Given the description of an element on the screen output the (x, y) to click on. 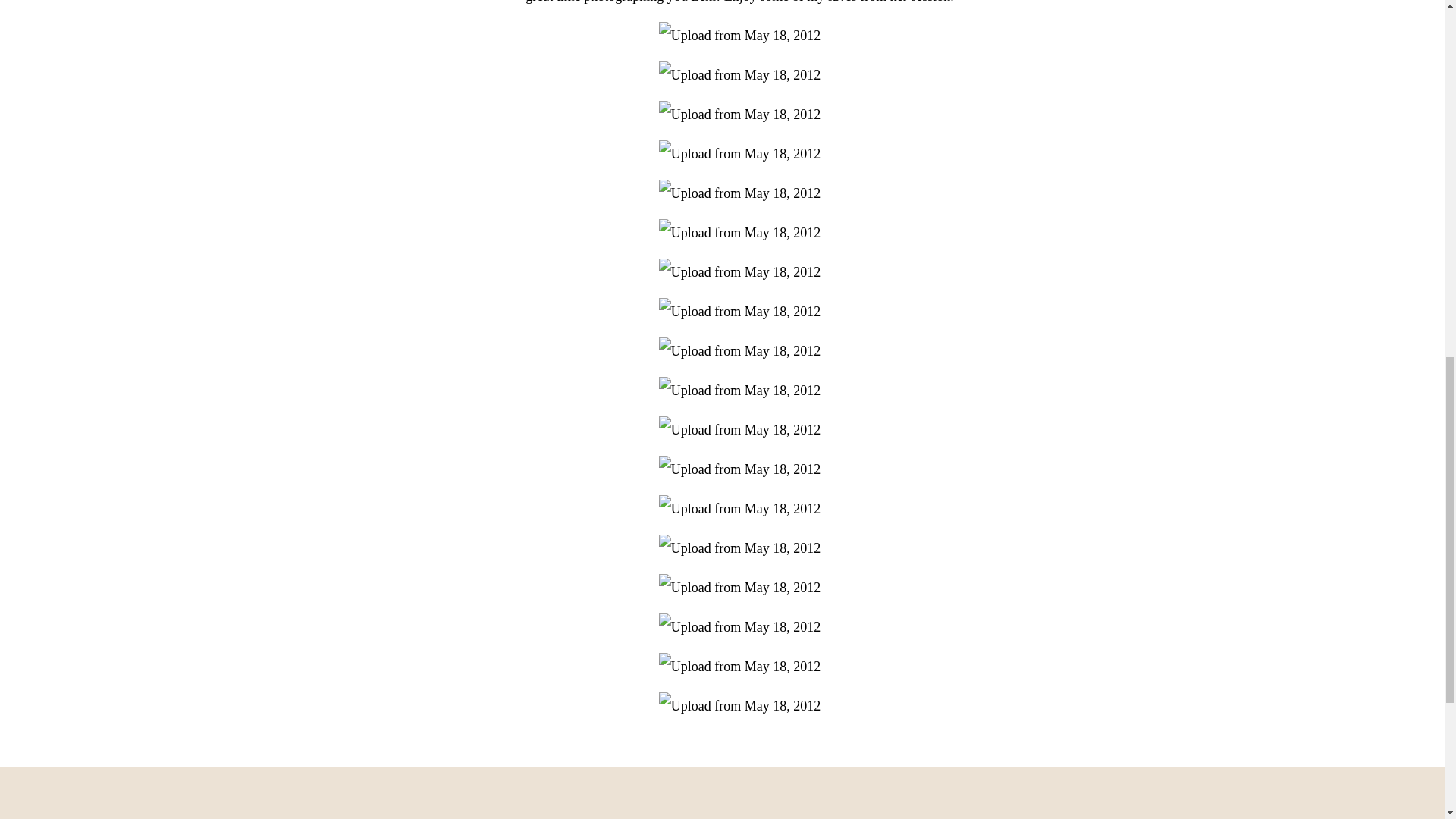
Upload from May 18, 2012 (740, 193)
Upload from May 18, 2012 (740, 232)
Upload from May 18, 2012 (740, 311)
Upload from May 18, 2012 (740, 626)
Upload from May 18, 2012 (740, 74)
Upload from May 18, 2012 (740, 429)
Upload from May 18, 2012 (740, 587)
Upload from May 18, 2012 (740, 547)
Upload from May 18, 2012 (740, 153)
Upload from May 18, 2012 (740, 35)
